Given the description of an element on the screen output the (x, y) to click on. 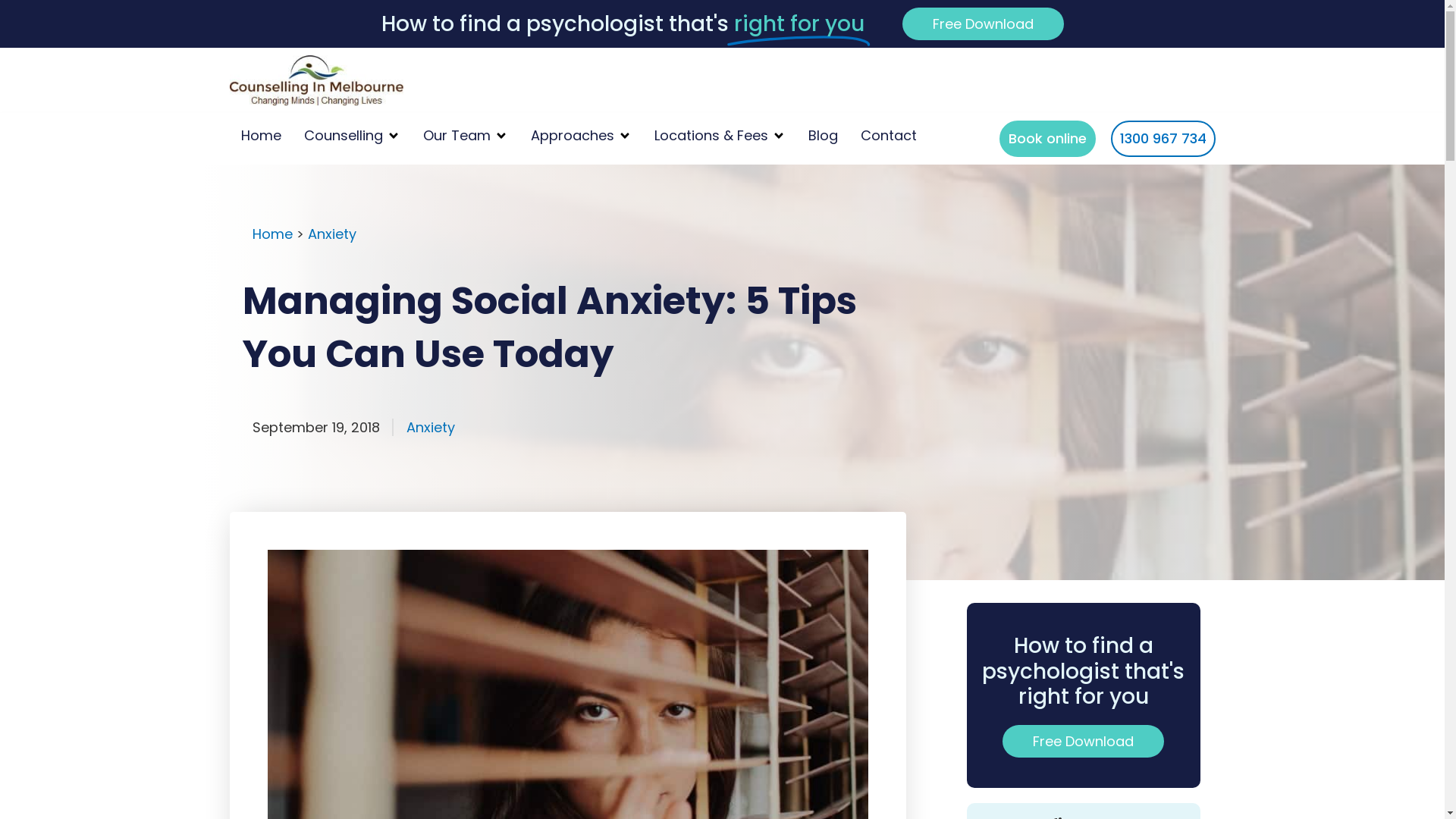
Home Element type: text (261, 135)
Free Download Element type: text (1083, 740)
Anxiety Element type: text (331, 233)
Book online Element type: text (1047, 138)
Free Download Element type: text (982, 23)
Approaches Element type: text (572, 135)
Blog Element type: text (822, 135)
Home Element type: text (271, 233)
Counselling Element type: text (342, 135)
1300 967 734 Element type: text (1162, 138)
Our Team Element type: text (456, 135)
Anxiety Element type: text (430, 426)
Contact Element type: text (887, 135)
